Given the description of an element on the screen output the (x, y) to click on. 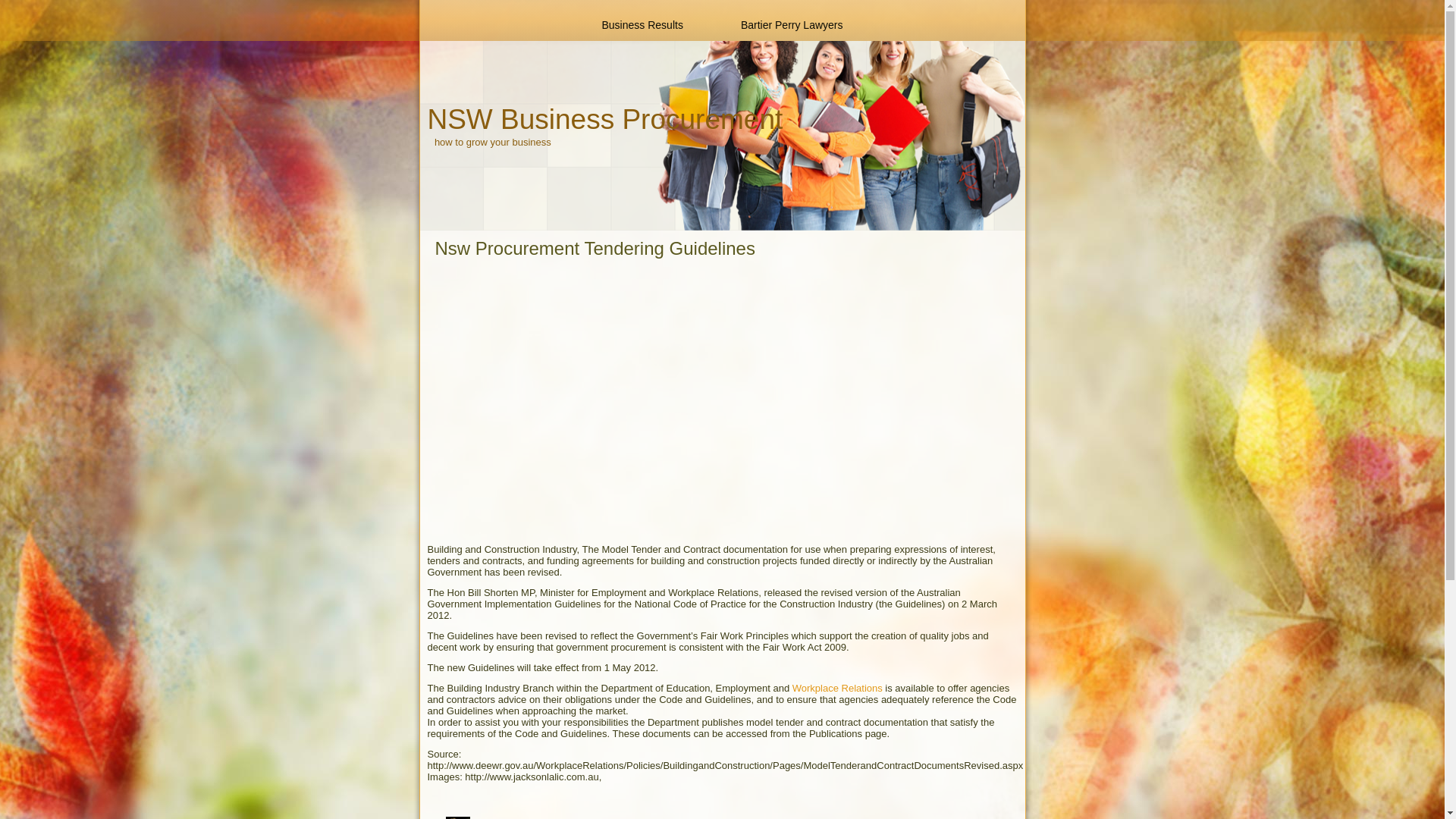
NSW Business Procurement Element type: text (604, 118)
Bartier Perry Lawyers Element type: text (791, 24)
Workplace Relations Element type: text (837, 687)
Business Results Element type: text (642, 24)
